Given the description of an element on the screen output the (x, y) to click on. 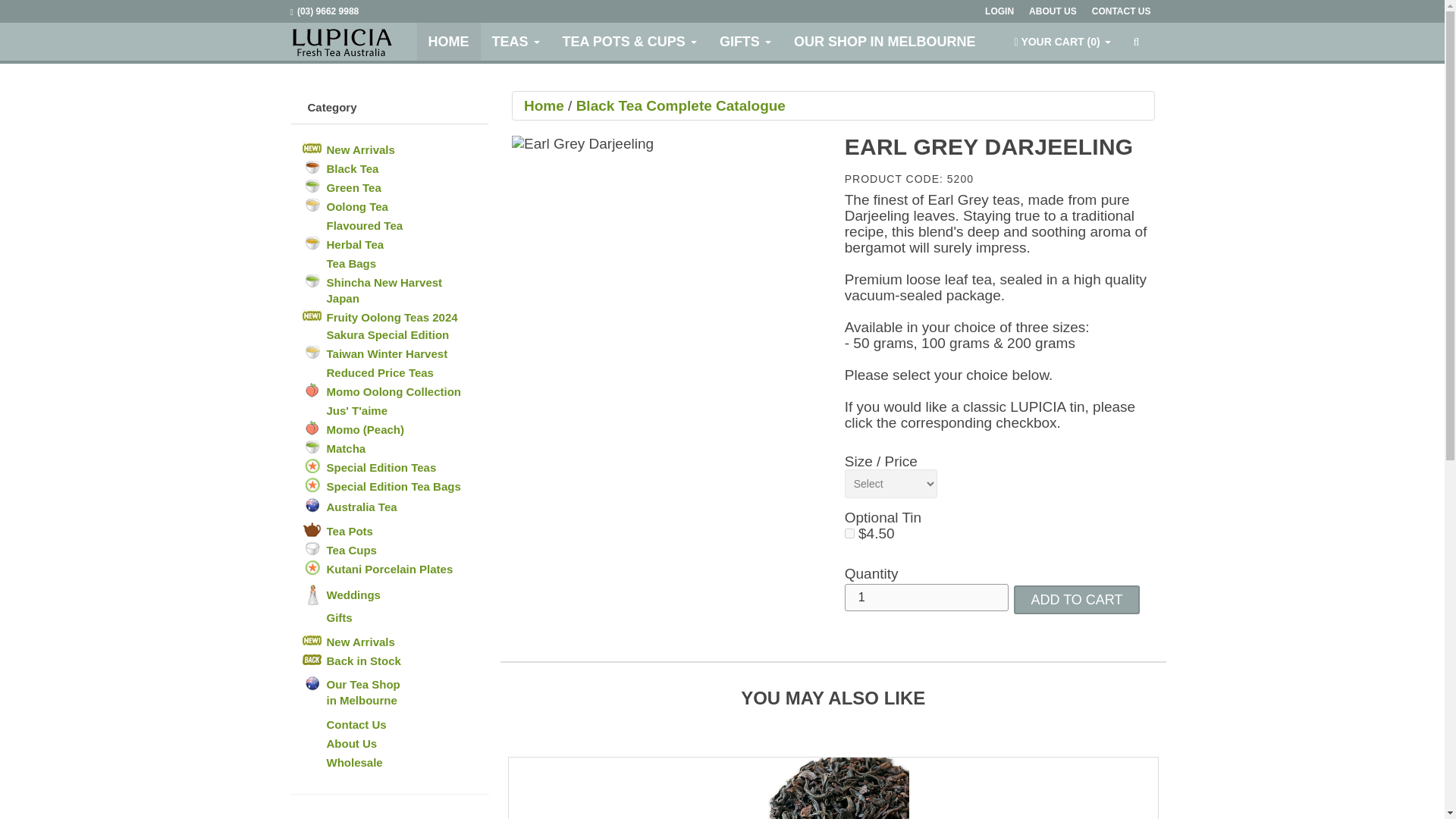
HOME (448, 41)
ABOUT US (1060, 11)
1 (926, 596)
9 (849, 533)
LOGIN (1007, 11)
Add to Cart (1075, 599)
CONTACT US (1129, 11)
TEAS (515, 41)
